Given the description of an element on the screen output the (x, y) to click on. 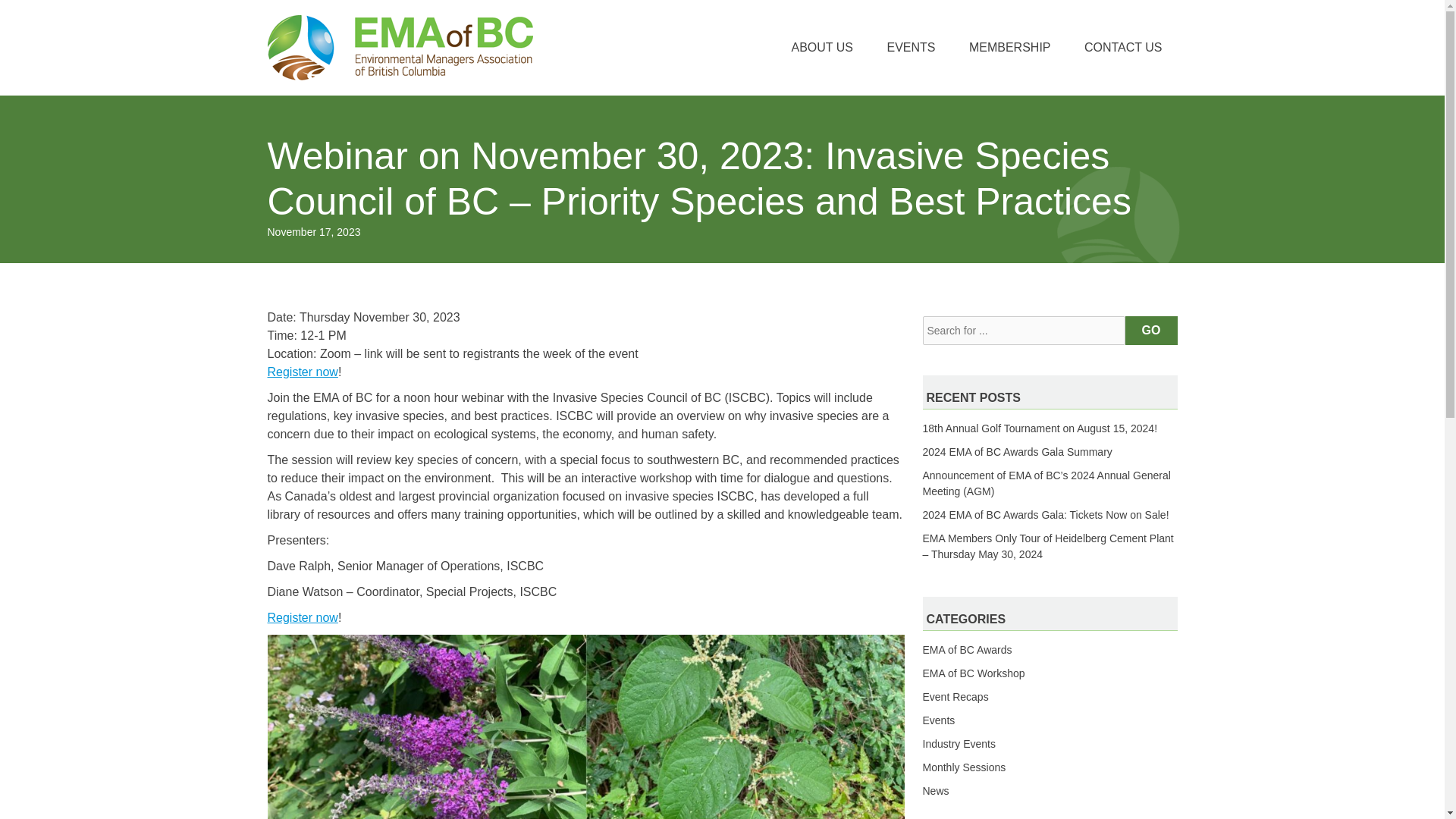
Event Recaps (954, 696)
18th Annual Golf Tournament on August 15, 2024! (1039, 428)
GO (1151, 330)
Industry Events (958, 743)
CONTACT US (1122, 47)
ABOUT US (822, 47)
Register now (301, 617)
MEMBERSHIP (1009, 47)
EMA of BC (399, 47)
2024 EMA of BC Awards Gala: Tickets Now on Sale! (1045, 514)
EMA of BC Awards (966, 649)
Register now (301, 371)
EMA of BC Workshop (973, 673)
Monthly Sessions (963, 767)
Events (938, 720)
